Given the description of an element on the screen output the (x, y) to click on. 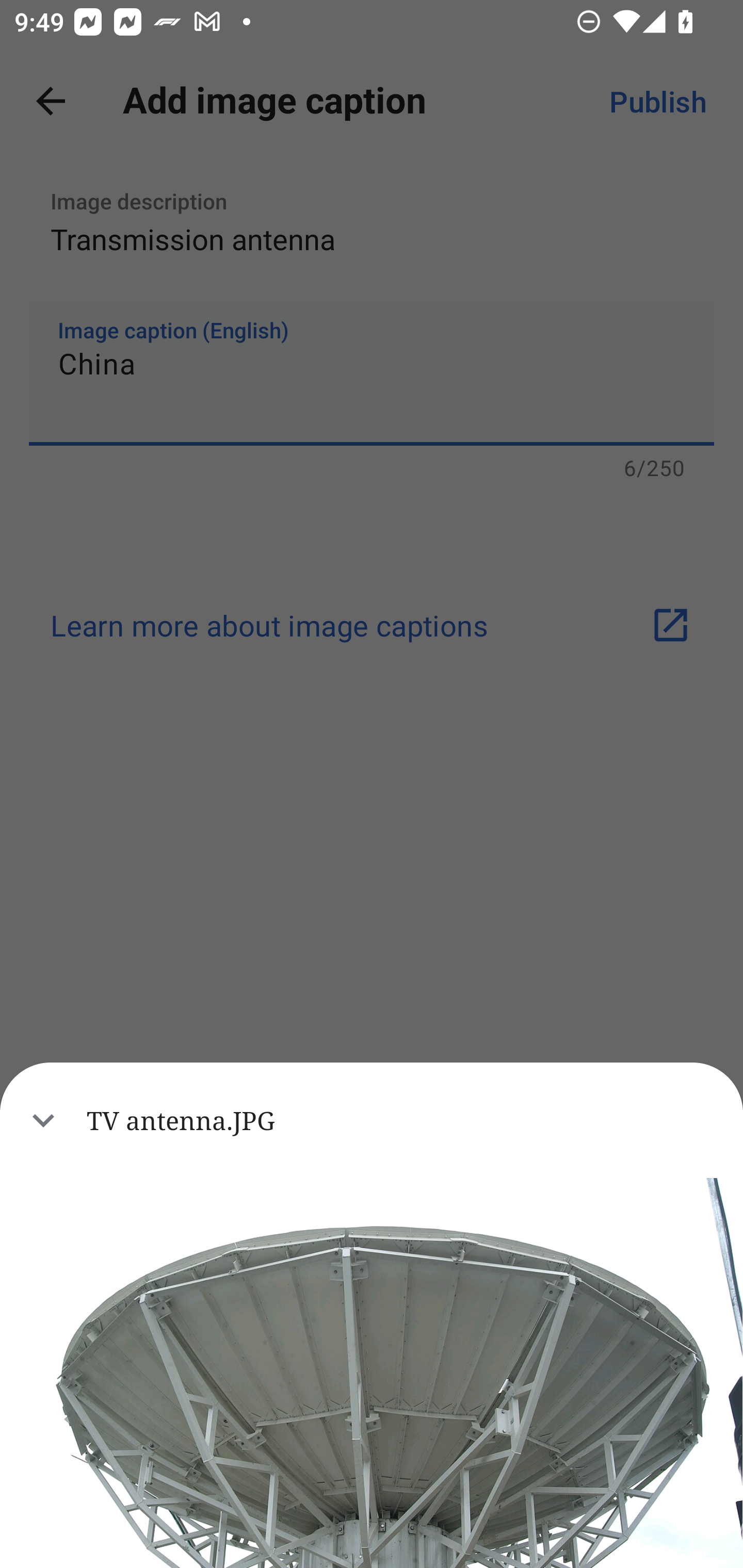
TV antenna.JPG (371, 1120)
